Given the description of an element on the screen output the (x, y) to click on. 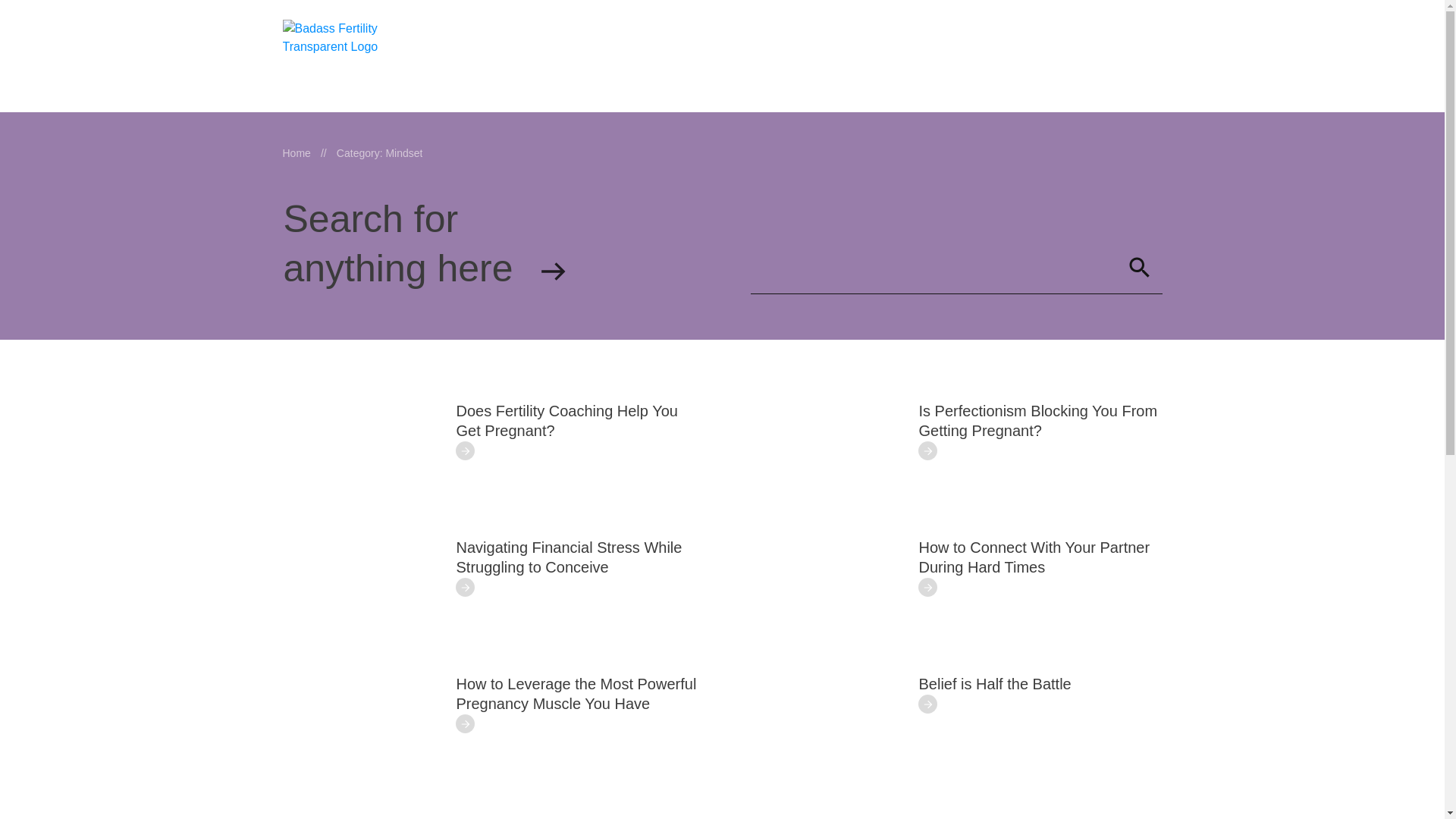
Home (296, 152)
Does Fertility Coaching Help You Get Pregnant? (567, 420)
Does Fertility Coaching Help You Get Pregnant? (567, 420)
Navigating Financial Stress While Struggling to Conceive (569, 556)
How to Leverage the Most Powerful Pregnancy Muscle You Have (577, 693)
Belief is Half the Battle (994, 683)
How to Connect With Your Partner During Hard Times (1034, 556)
How to Connect With Your Partner During Hard Times (1034, 556)
Belief is Half the Battle (994, 683)
Is Perfectionism Blocking You From Getting Pregnant? (1037, 420)
Navigating Financial Stress While Struggling to Conceive (569, 556)
Is Perfectionism Blocking You From Getting Pregnant? (1037, 420)
How to Leverage the Most Powerful Pregnancy Muscle You Have (577, 693)
